Given the description of an element on the screen output the (x, y) to click on. 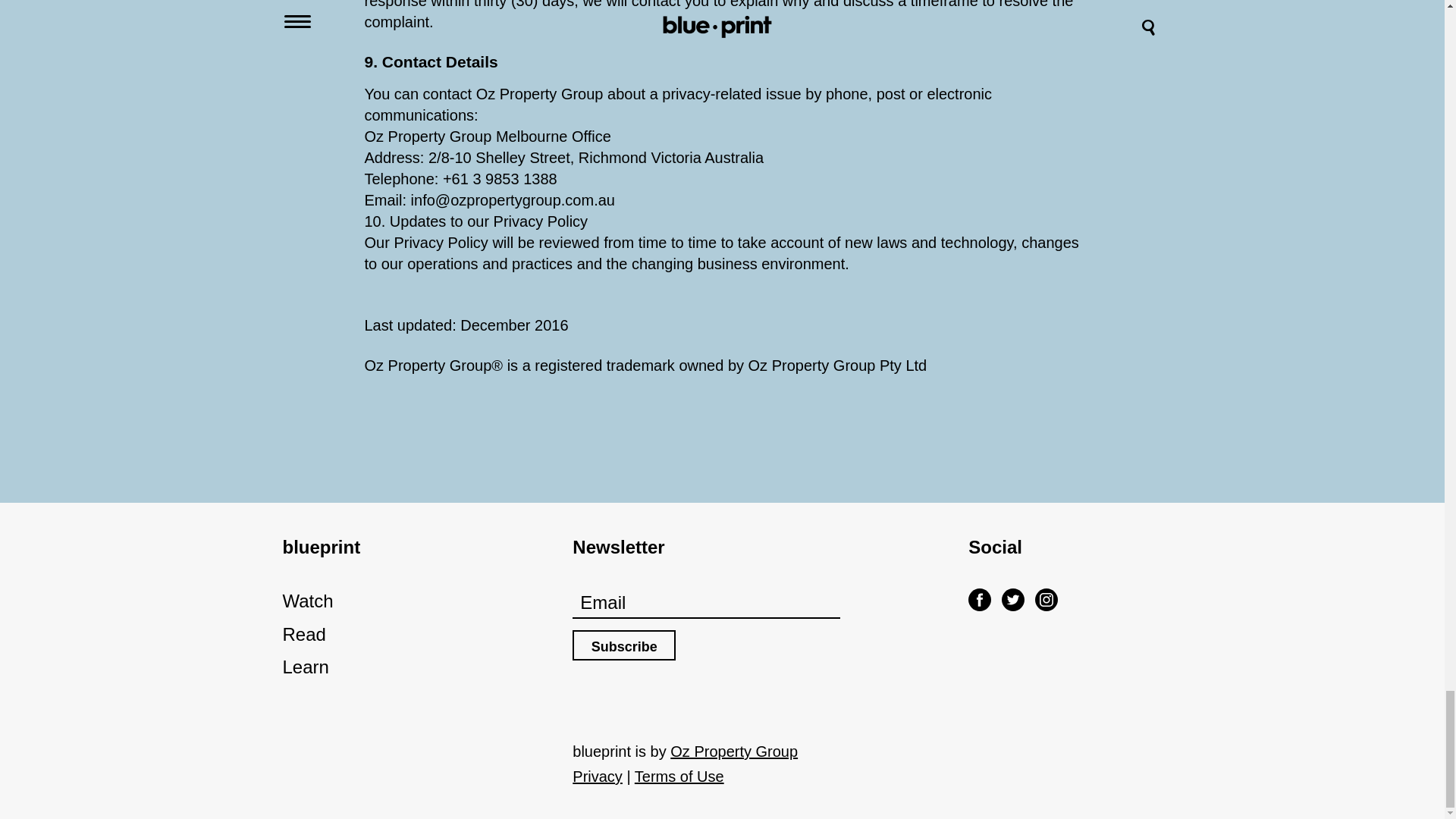
Watch (416, 601)
Learn (416, 667)
Read (416, 634)
Terms of Use (678, 776)
Oz Property Group (733, 751)
Subscribe (623, 644)
Privacy (597, 776)
Subscribe (623, 644)
